Given the description of an element on the screen output the (x, y) to click on. 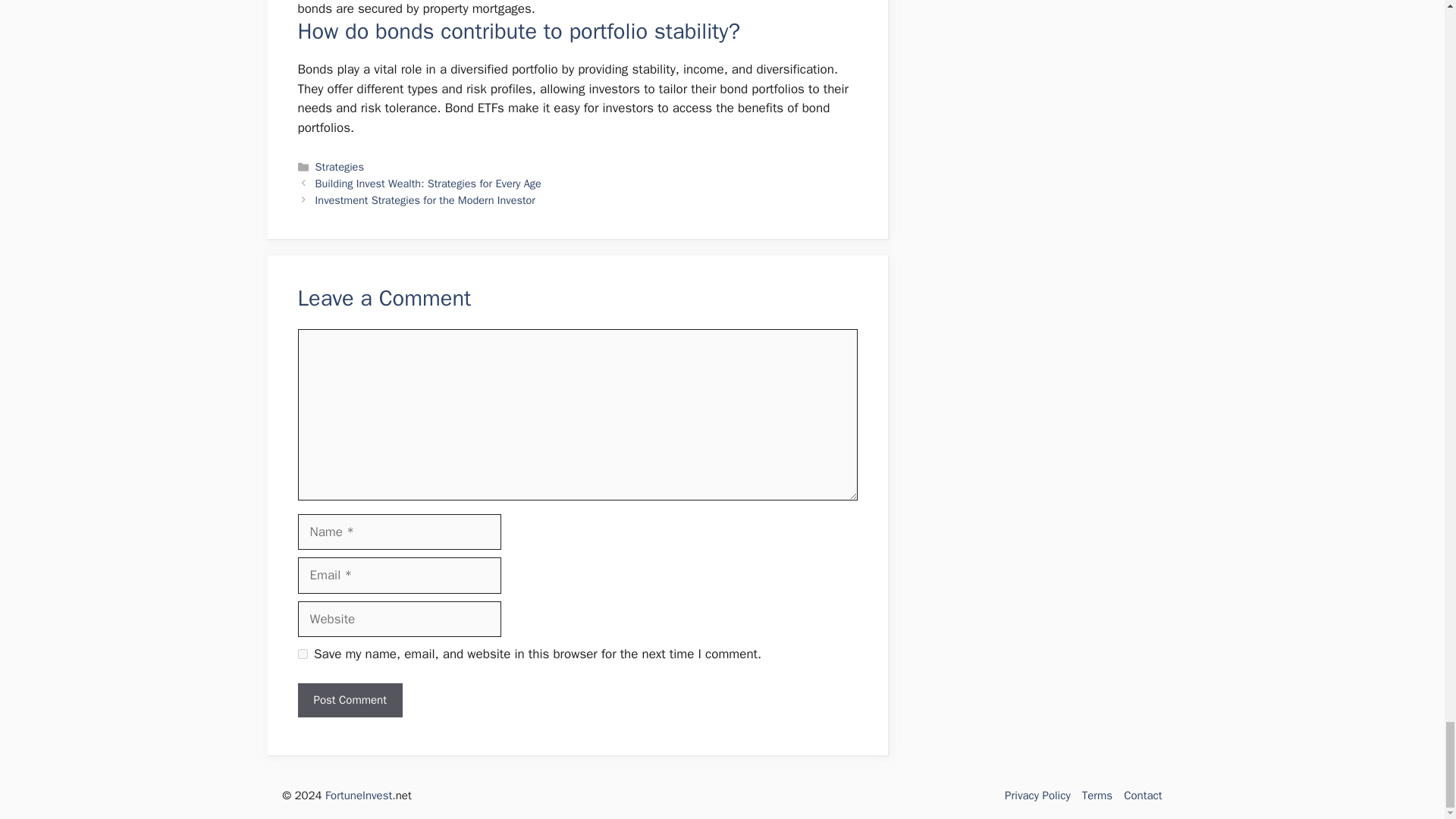
Post Comment (349, 700)
yes (302, 654)
Investment Strategies for the Modern Investor (425, 200)
Strategies (339, 166)
Post Comment (349, 700)
Building Invest Wealth: Strategies for Every Age (428, 183)
